Given the description of an element on the screen output the (x, y) to click on. 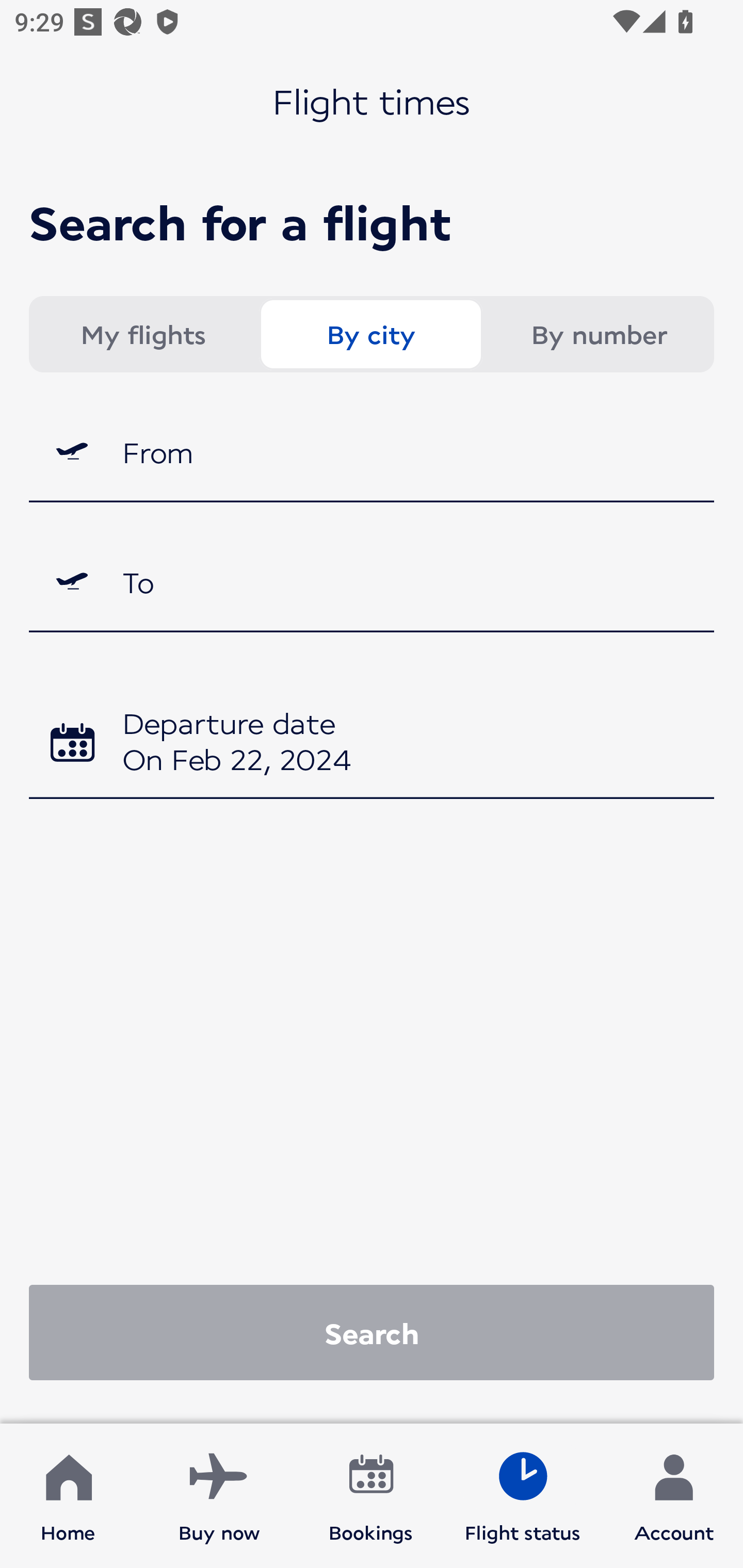
My flights (142, 334)
By city (370, 334)
By number (598, 334)
From (371, 451)
To (371, 581)
On Feb 22, 2024 Departure date (371, 744)
Search (371, 1331)
Home (68, 1495)
Buy now (219, 1495)
Bookings (370, 1495)
Account (674, 1495)
